Given the description of an element on the screen output the (x, y) to click on. 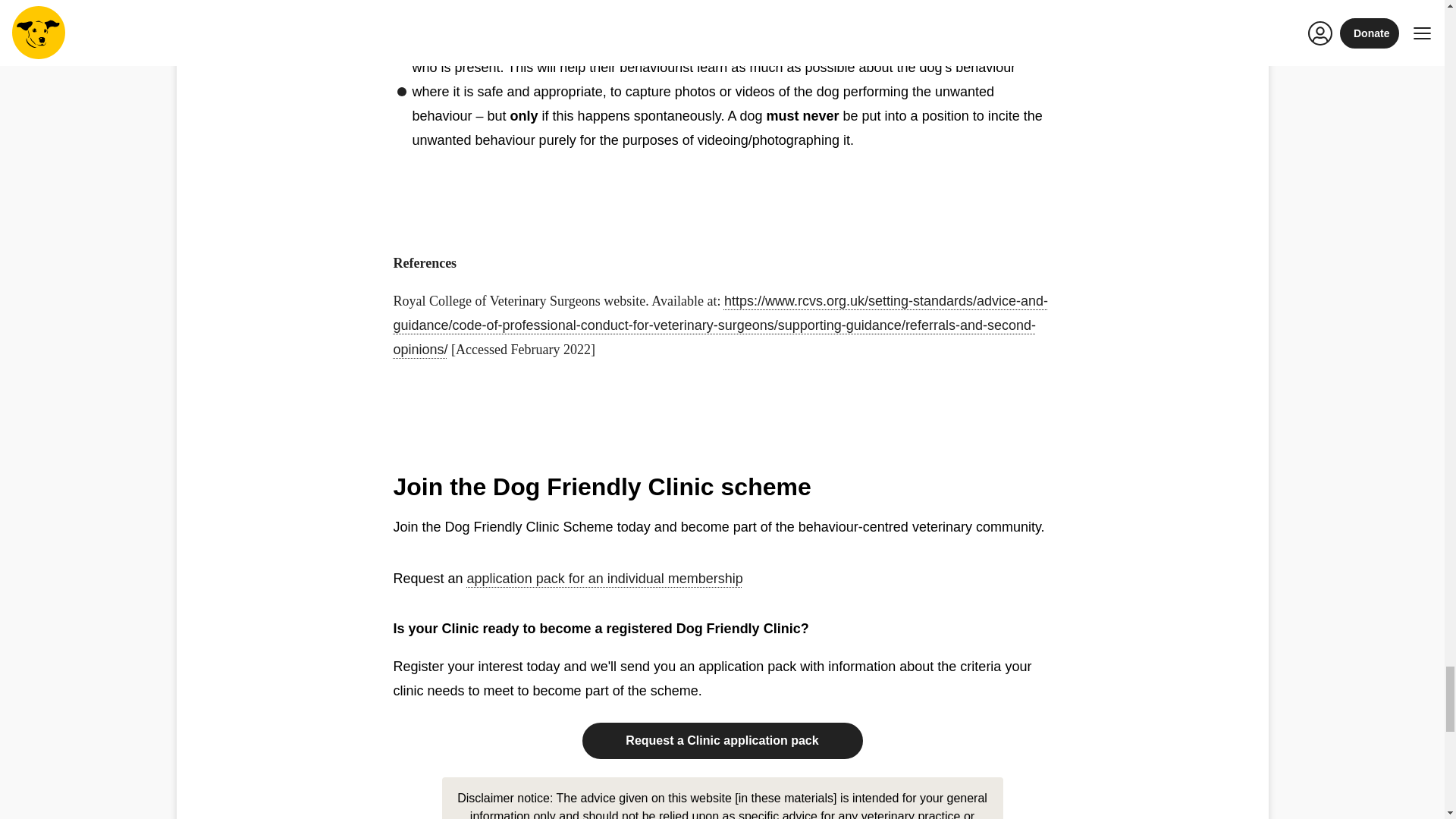
Dog Friendly Clinic Individual Membership (604, 578)
